Given the description of an element on the screen output the (x, y) to click on. 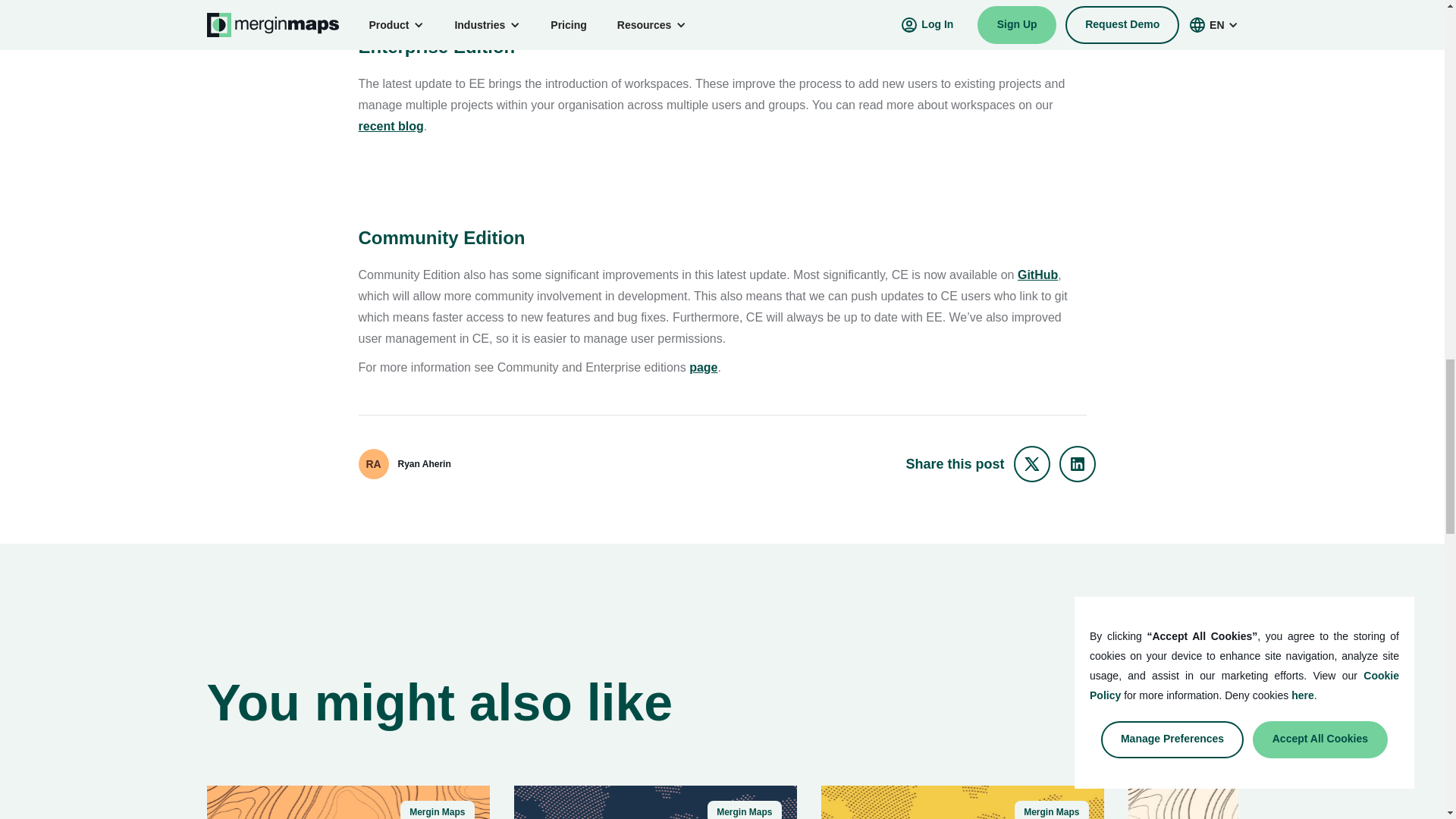
recent blog (390, 125)
GitHub (1037, 274)
page (702, 367)
